Given the description of an element on the screen output the (x, y) to click on. 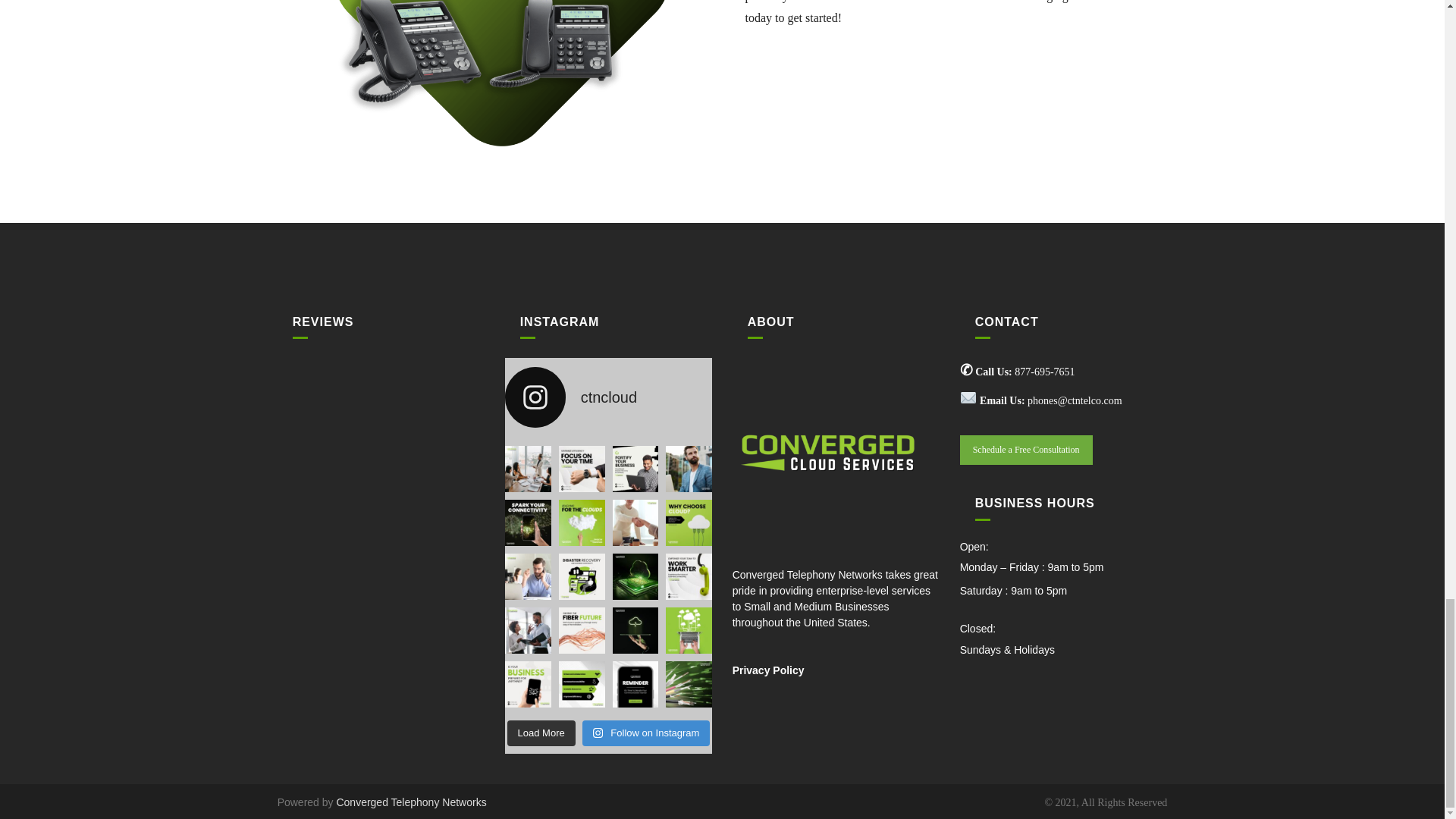
Contact Us (1026, 449)
Contact us (1101, 1)
ctncloud (609, 396)
